Given the description of an element on the screen output the (x, y) to click on. 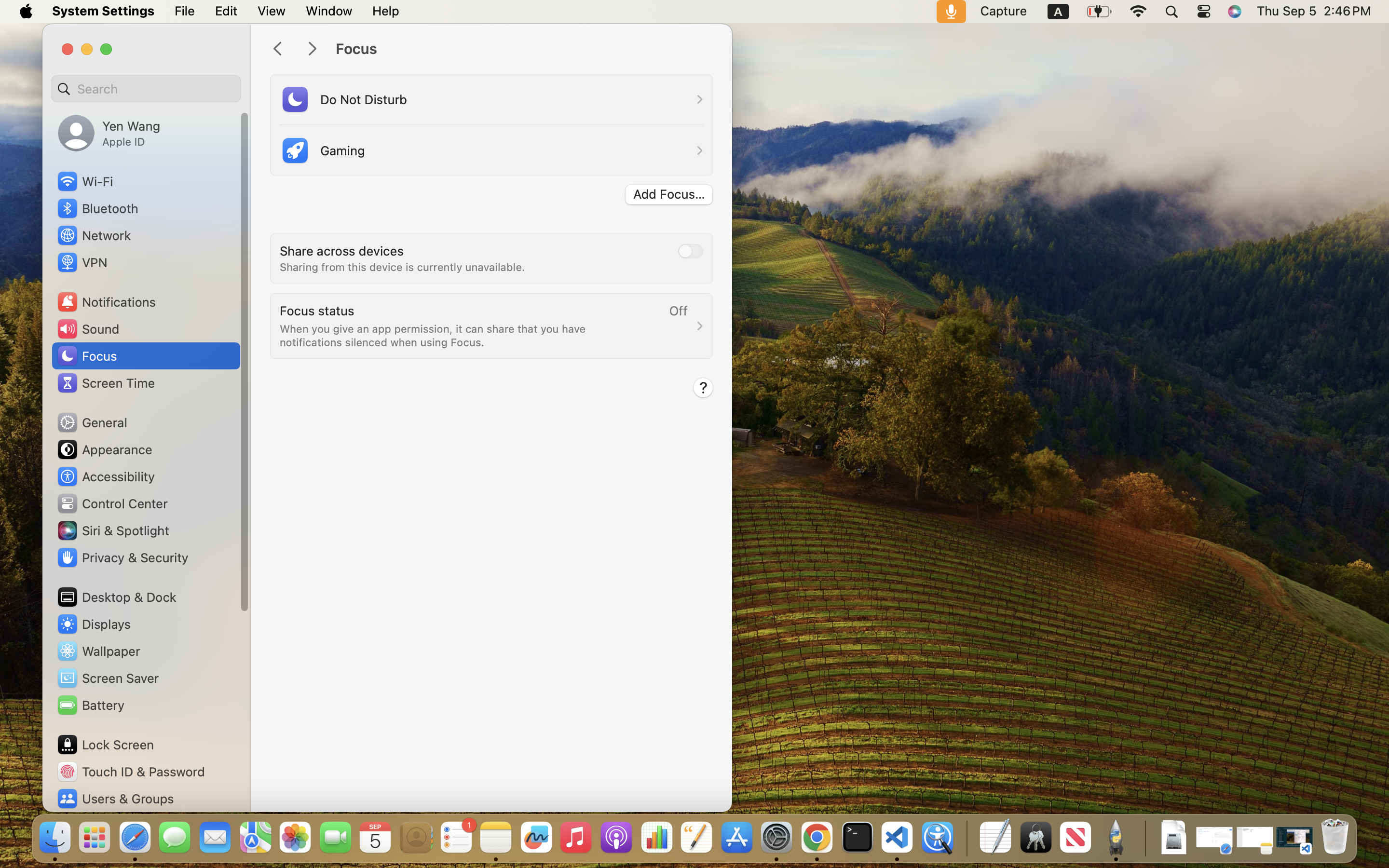
Sharing from this device is currently unavailable. Element type: AXStaticText (401, 266)
Battery Element type: AXStaticText (89, 704)
Wallpaper Element type: AXStaticText (97, 650)
Notifications Element type: AXStaticText (105, 301)
Displays Element type: AXStaticText (93, 623)
